Given the description of an element on the screen output the (x, y) to click on. 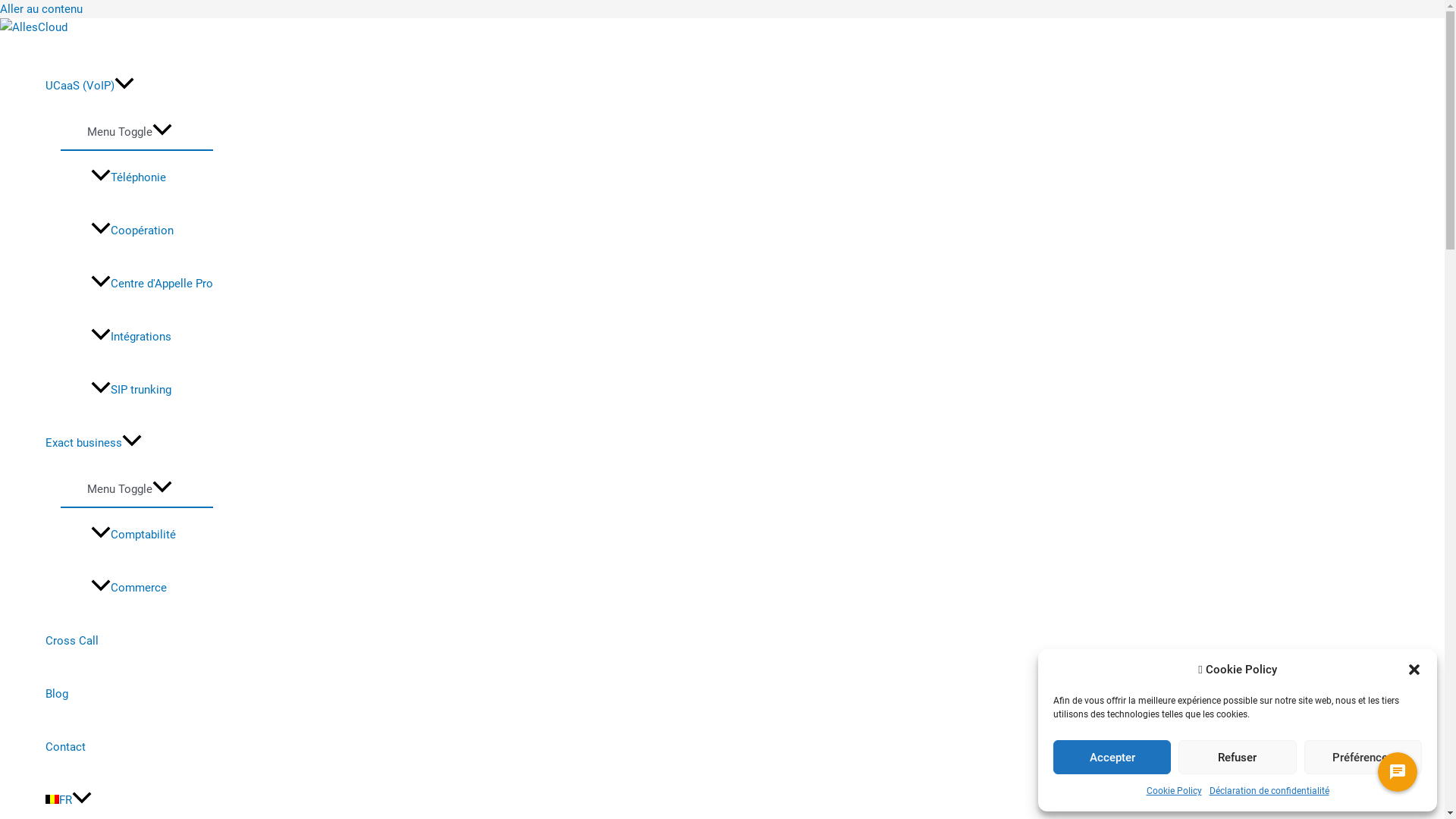
Aller au contenu Element type: text (41, 8)
Cross Call Element type: text (129, 640)
Exact business Element type: text (129, 442)
UCaaS (VoIP) Element type: text (129, 85)
Blog Element type: text (129, 693)
SIP trunking Element type: text (152, 389)
Commerce Element type: text (152, 587)
Refuser Element type: text (1236, 757)
Menu Toggle Element type: text (129, 487)
French Element type: hover (52, 798)
Menu Toggle Element type: text (129, 130)
Accepter Element type: text (1111, 757)
Contact Element type: text (129, 746)
Cookie Policy Element type: text (1173, 790)
Centre d'Appelle Pro Element type: text (152, 283)
